Given the description of an element on the screen output the (x, y) to click on. 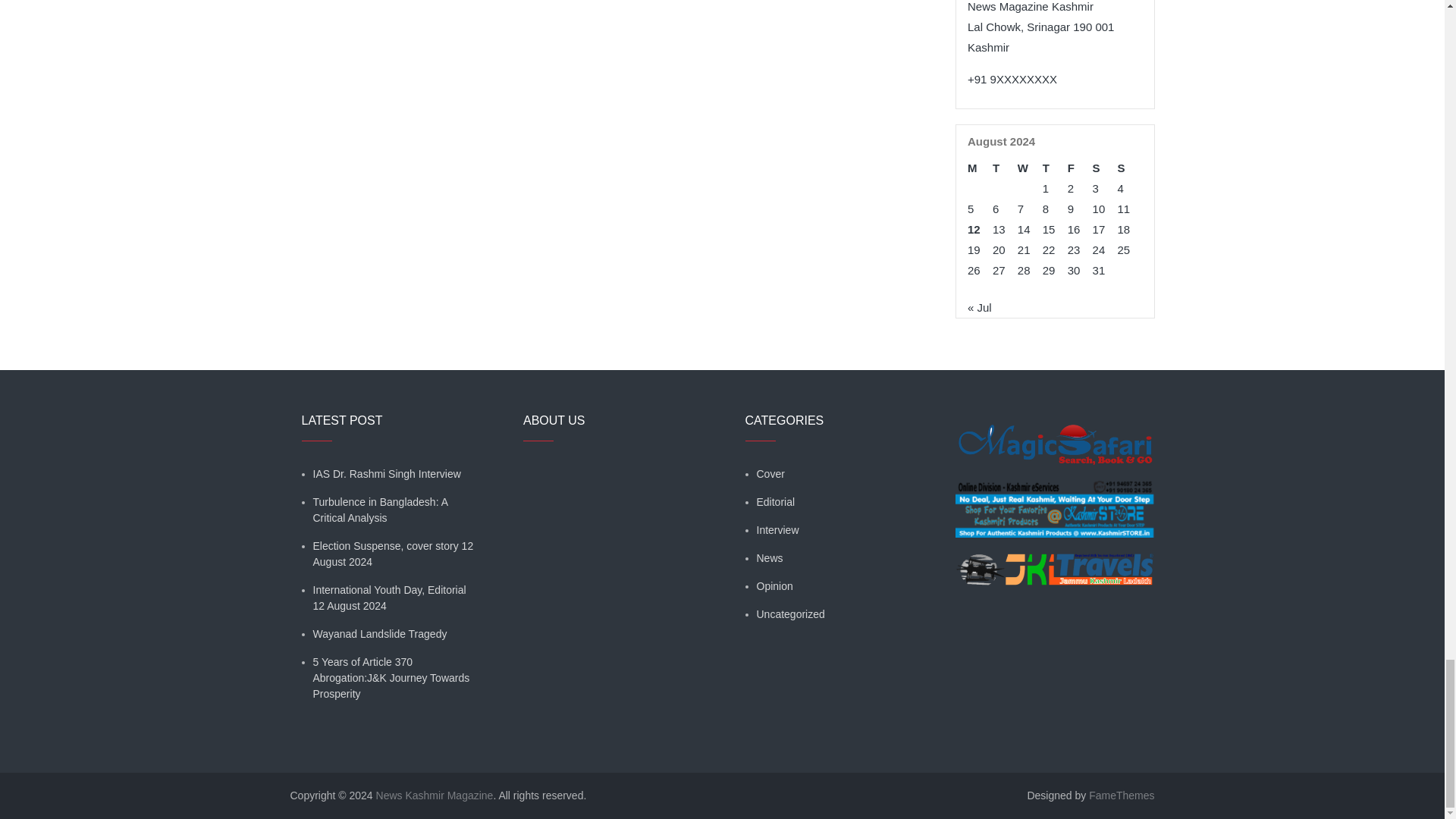
262x220 Ads (1054, 560)
News Kashmir Magazine (434, 795)
Wednesday (1029, 168)
Monday (980, 168)
262x220 Ads (1054, 435)
Thursday (1054, 168)
Sunday (1130, 168)
262x220 Ads (1054, 500)
Saturday (1105, 168)
Friday (1080, 168)
